Given the description of an element on the screen output the (x, y) to click on. 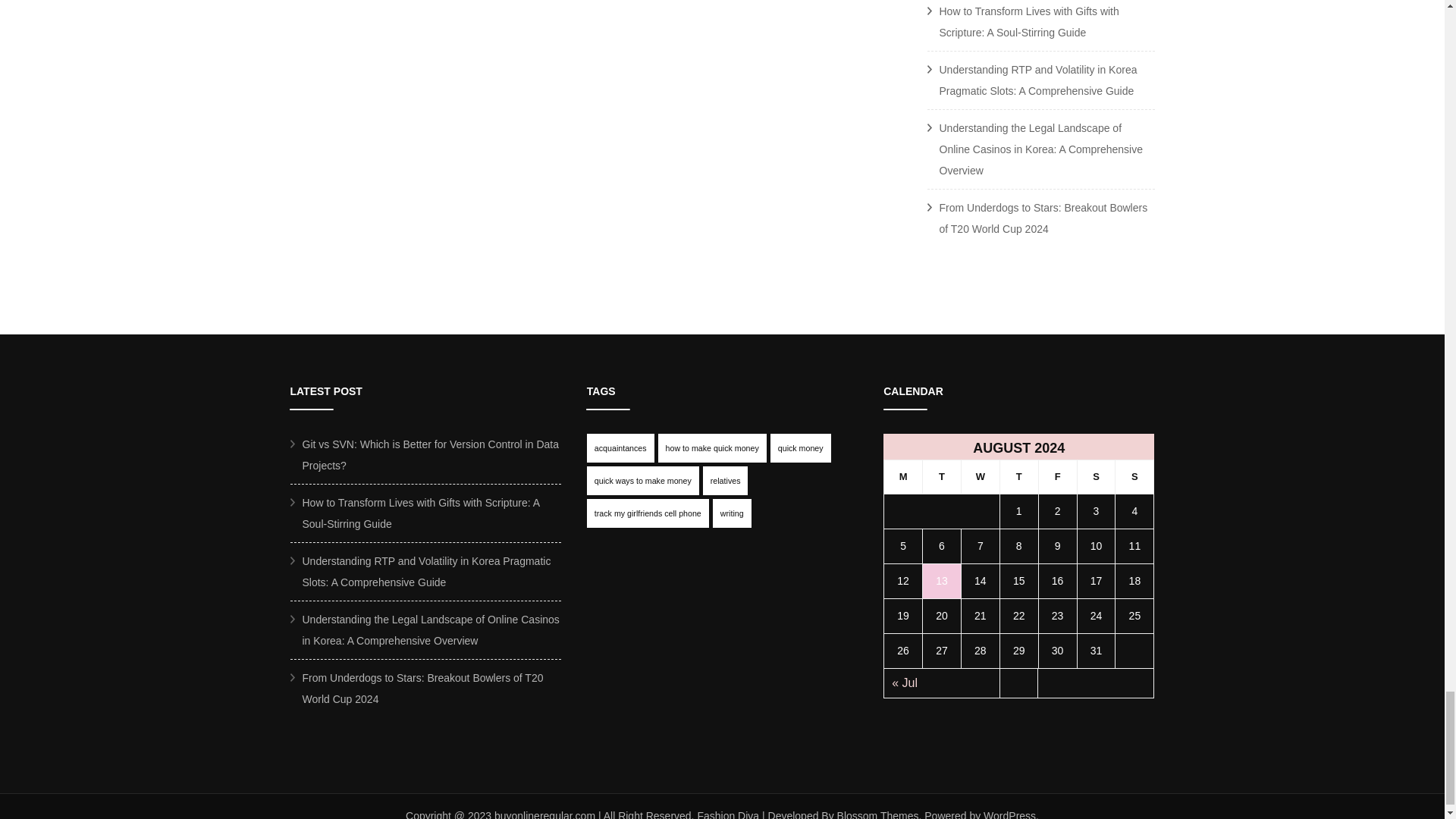
Thursday (1018, 476)
Monday (903, 476)
Saturday (1096, 476)
Tuesday (941, 476)
Wednesday (979, 476)
Sunday (1134, 476)
Friday (1057, 476)
